Given the description of an element on the screen output the (x, y) to click on. 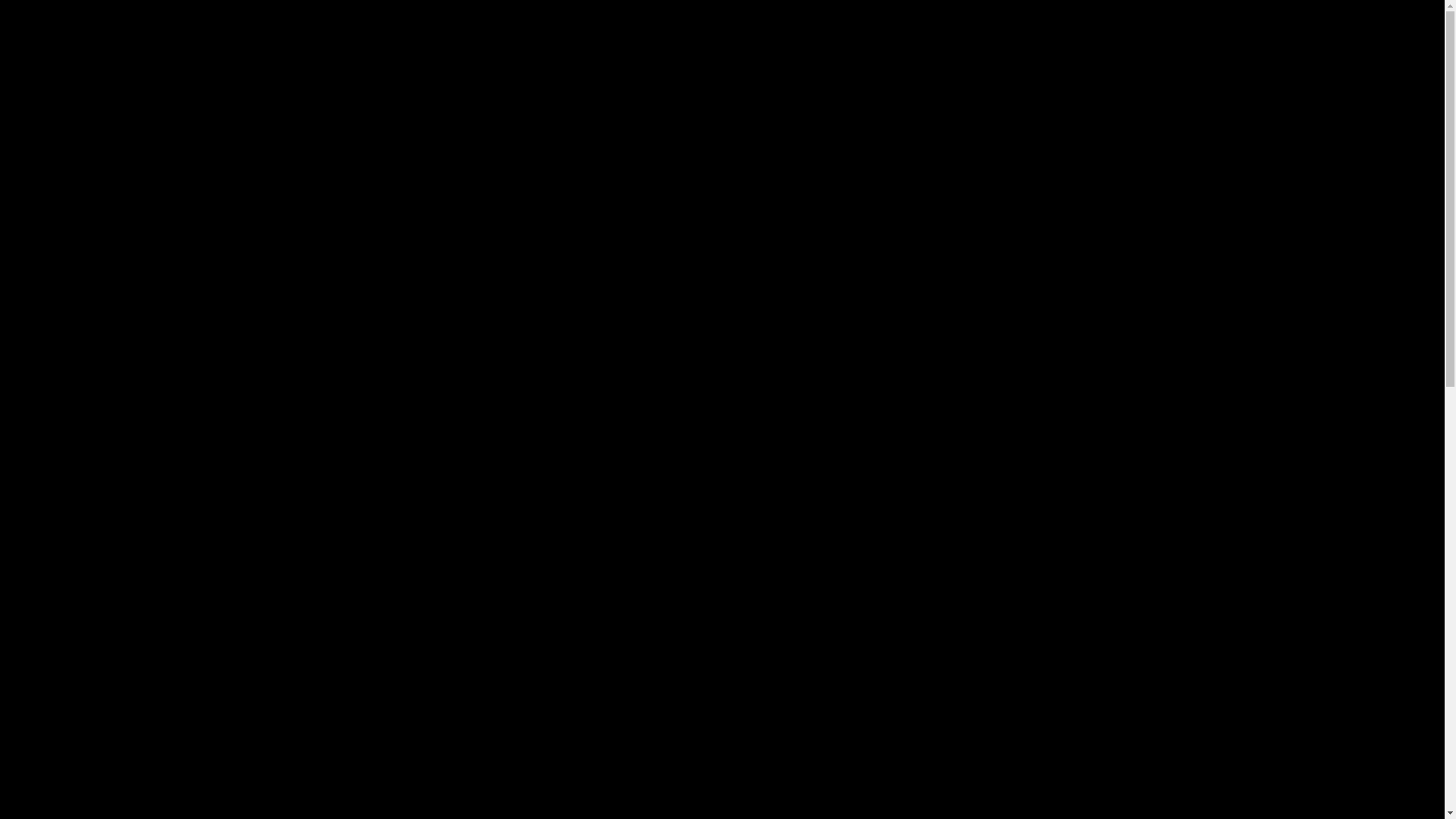
BUY TICKETS NOW! Element type: text (722, 696)
